Given the description of an element on the screen output the (x, y) to click on. 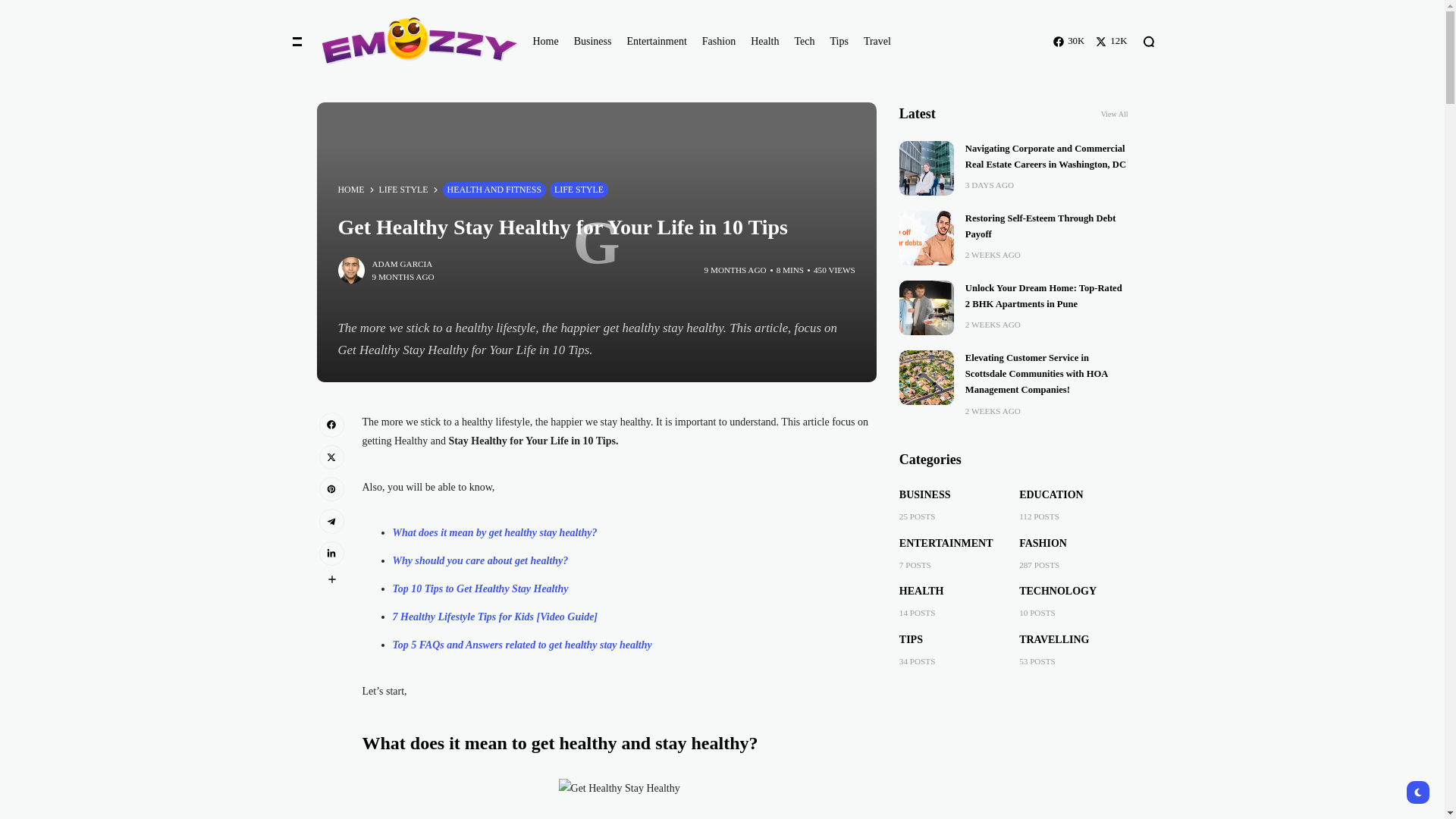
450 VIEWS (834, 269)
LIFE STYLE (579, 190)
Posts by Adam Garcia (401, 264)
Why should you care about get healthy? (481, 560)
HOME (351, 190)
9 MONTHS AGO (735, 269)
Emozzy (411, 40)
Top 10 Tips to Get Healthy Stay Healthy (481, 588)
12K (1111, 41)
HEALTH AND FITNESS (494, 190)
